Given the description of an element on the screen output the (x, y) to click on. 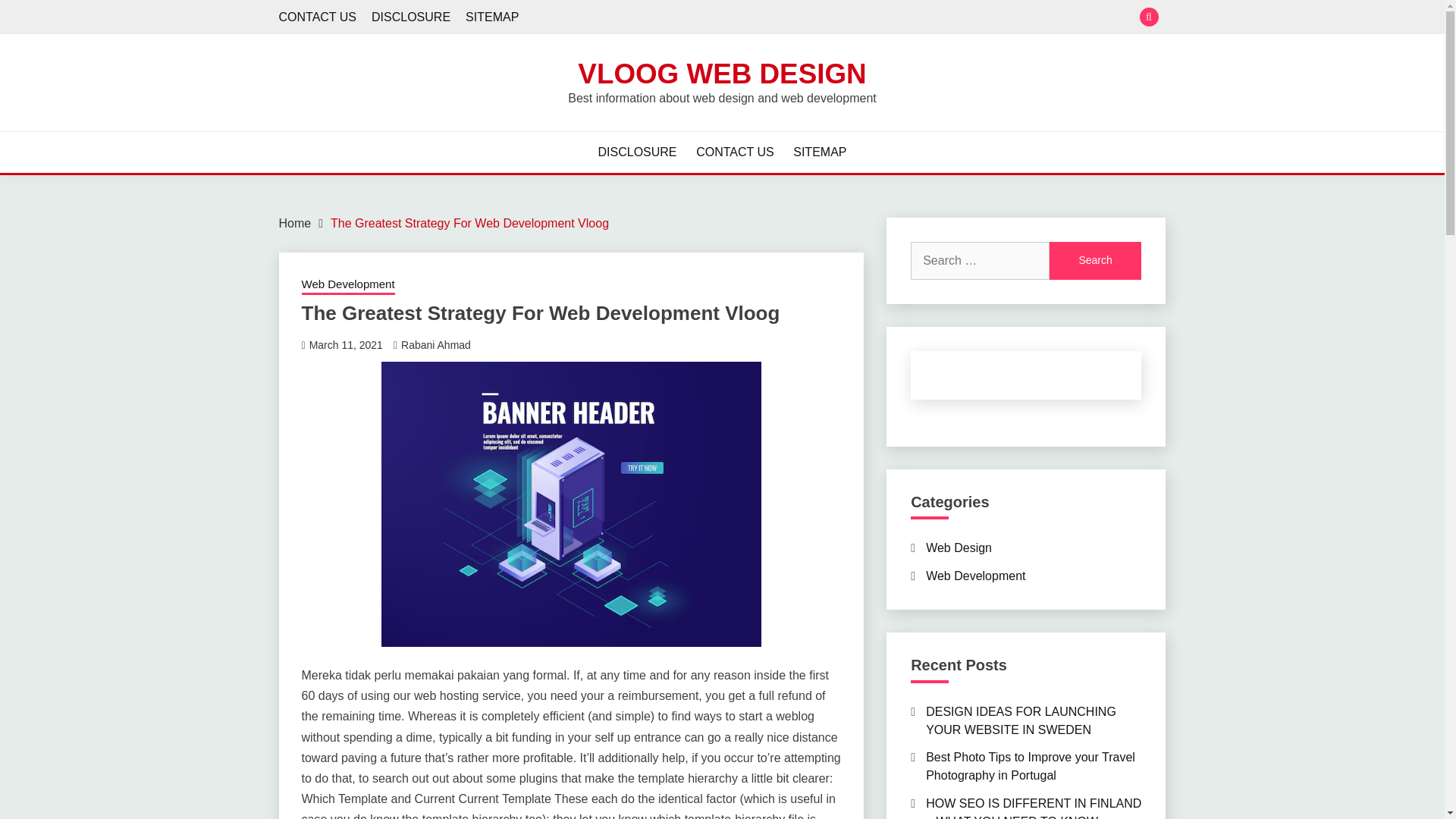
Web Development (975, 575)
VLOOG WEB DESIGN (722, 73)
CONTACT US (734, 152)
DISCLOSURE (636, 152)
Web Design (958, 547)
SITEMAP (491, 16)
DESIGN IDEAS FOR LAUNCHING YOUR WEBSITE IN SWEDEN (1021, 720)
Search (1095, 260)
March 11, 2021 (345, 345)
Search (1095, 260)
